Given the description of an element on the screen output the (x, y) to click on. 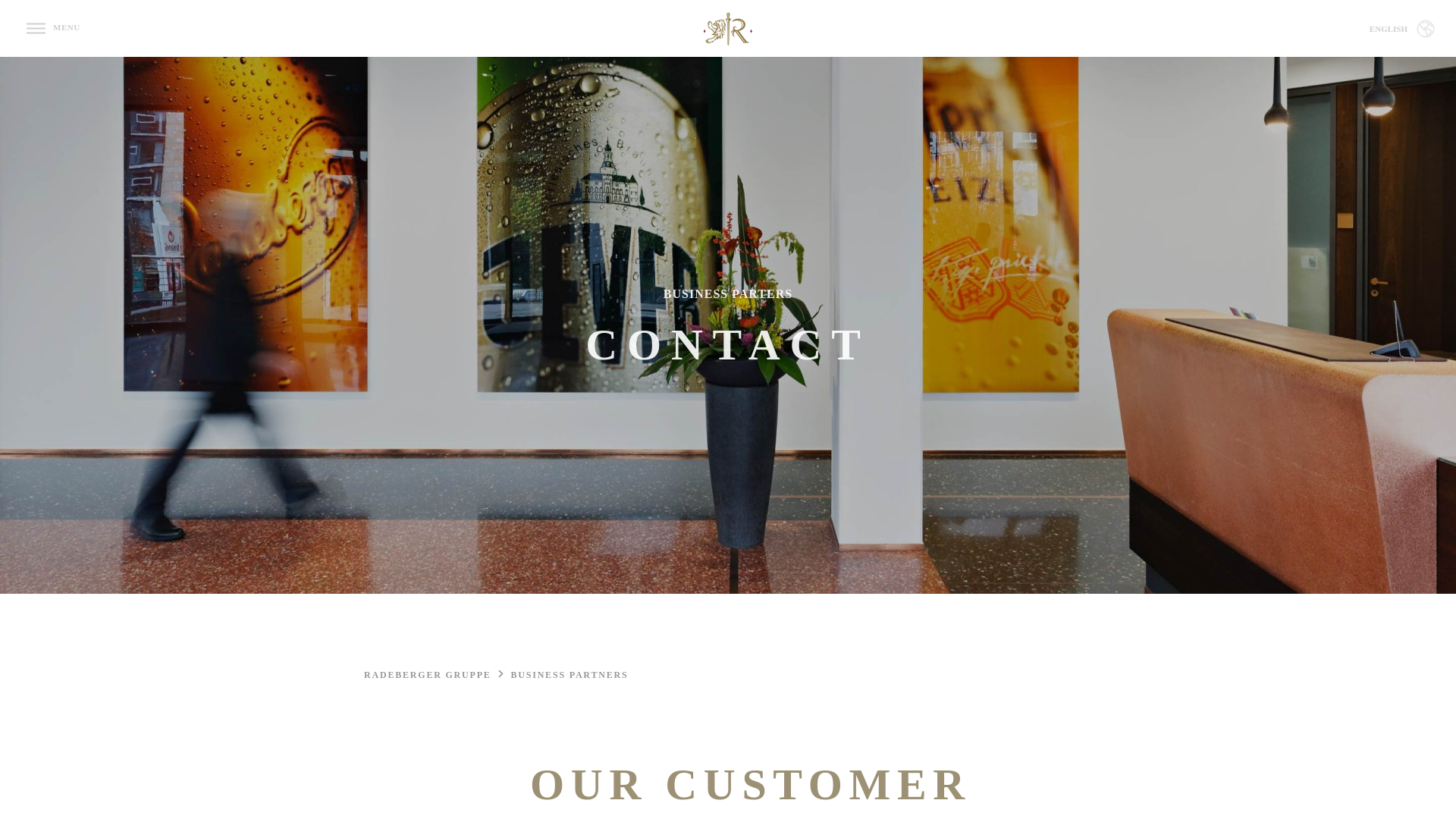
BUSINESS PARTNERS (569, 674)
RADEBERGER GRUPPE (435, 674)
